Given the description of an element on the screen output the (x, y) to click on. 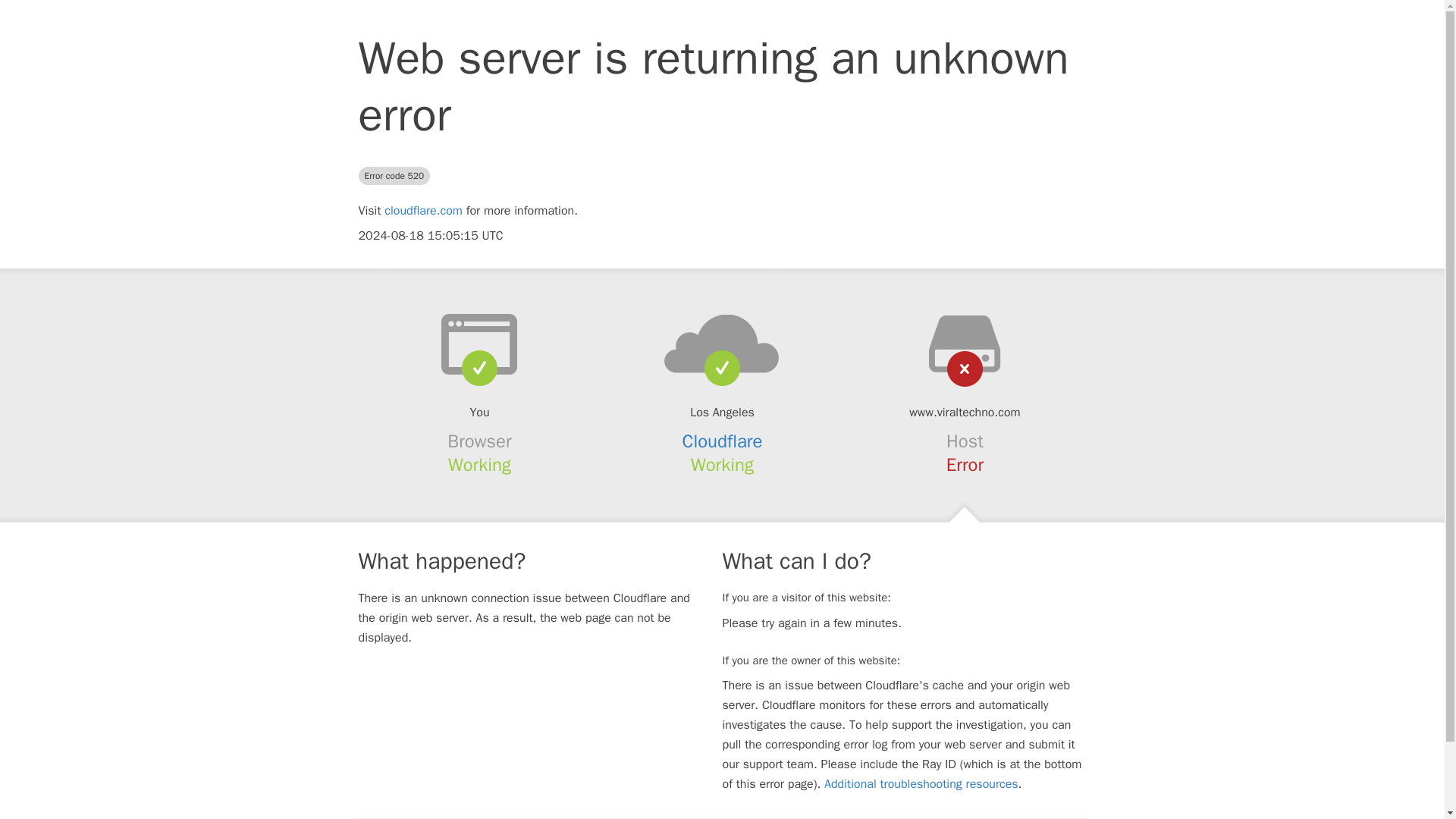
Additional troubleshooting resources (920, 783)
cloudflare.com (423, 210)
Cloudflare (722, 440)
